Given the description of an element on the screen output the (x, y) to click on. 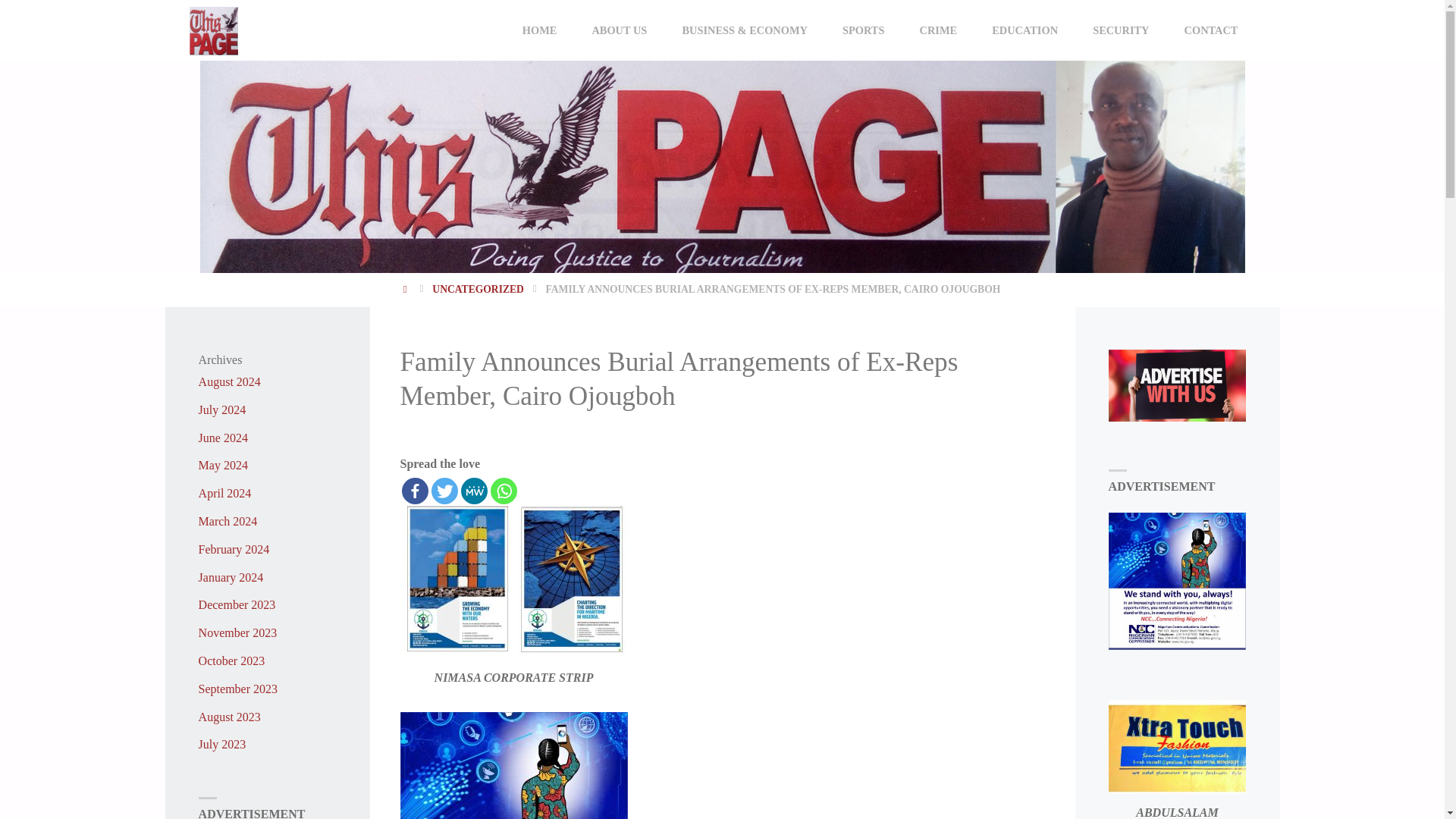
ABOUT US (618, 30)
Home (406, 288)
SPORTS (863, 30)
July 2024 (222, 409)
UNCATEGORIZED (478, 288)
March 2024 (227, 521)
December 2023 (237, 604)
MeWe (474, 490)
EDUCATION (1024, 30)
June 2024 (222, 437)
January 2024 (230, 576)
February 2024 (233, 549)
Whatsapp (502, 490)
CRIME (938, 30)
April 2024 (224, 492)
